Given the description of an element on the screen output the (x, y) to click on. 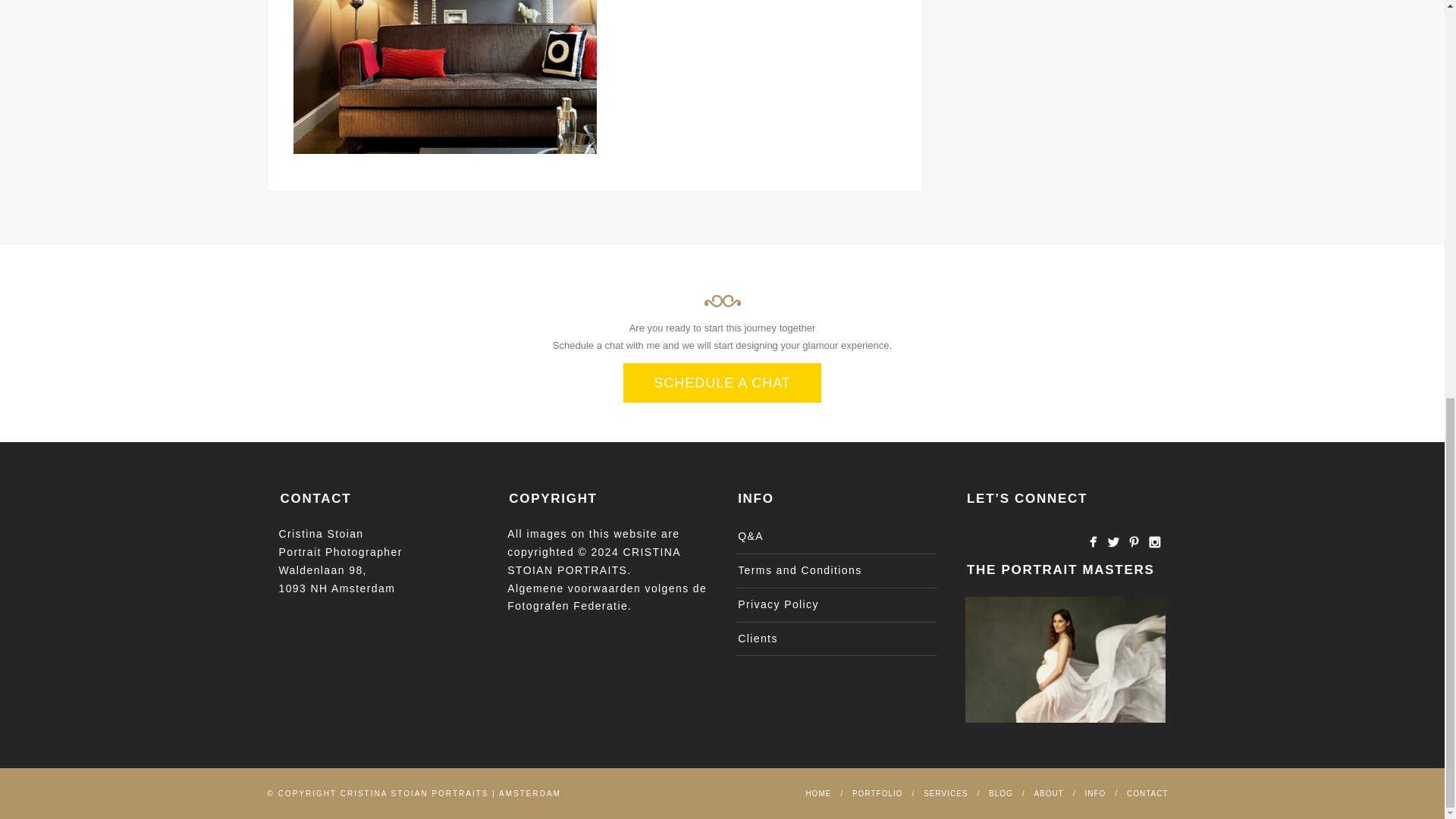
My Daily Instagram (1153, 541)
Twitter (1112, 541)
Facebook Page (1092, 541)
My Style on Pinterest (1133, 541)
Gallery Wall (445, 76)
